Given the description of an element on the screen output the (x, y) to click on. 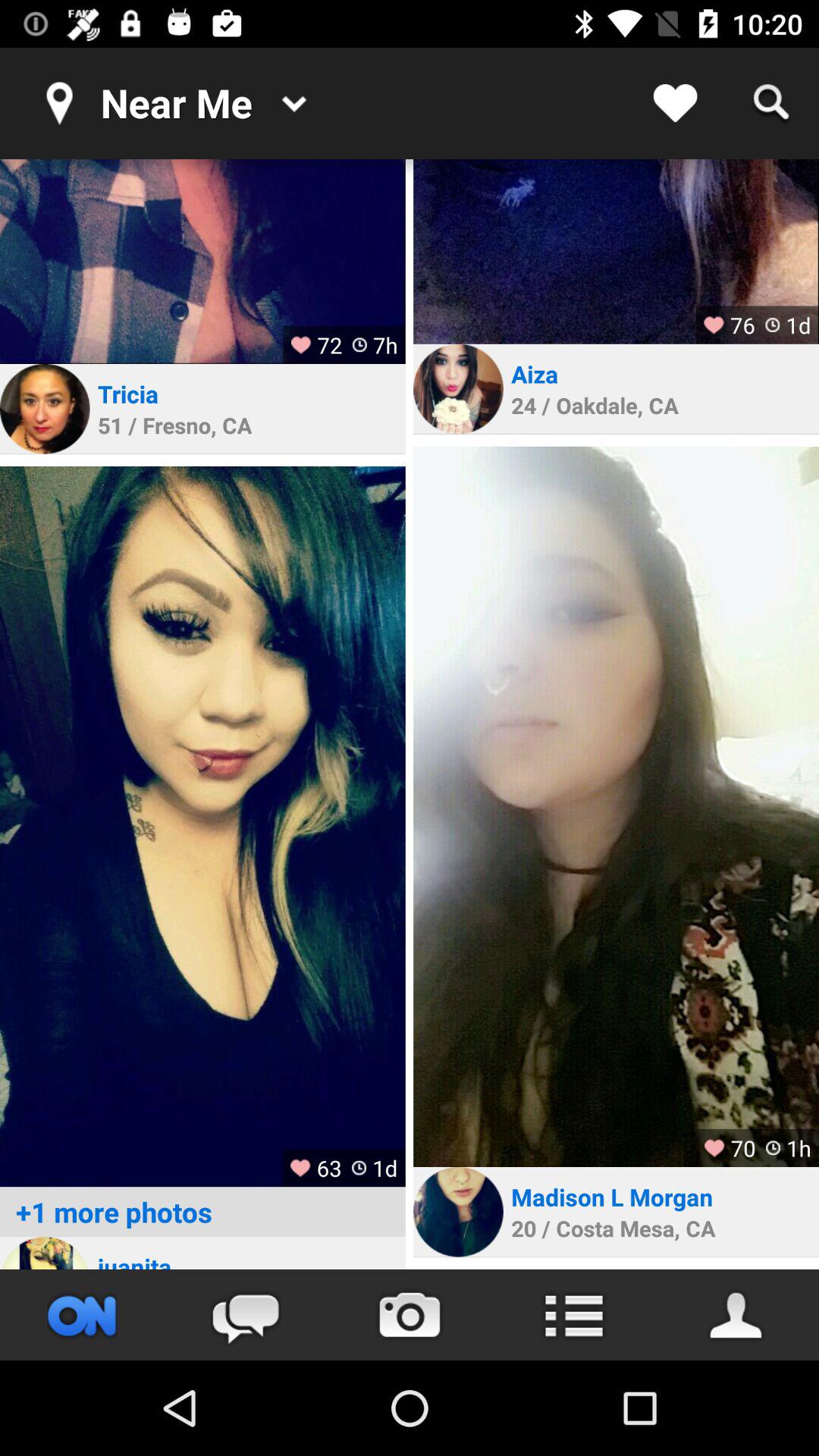
contact (737, 1315)
